Given the description of an element on the screen output the (x, y) to click on. 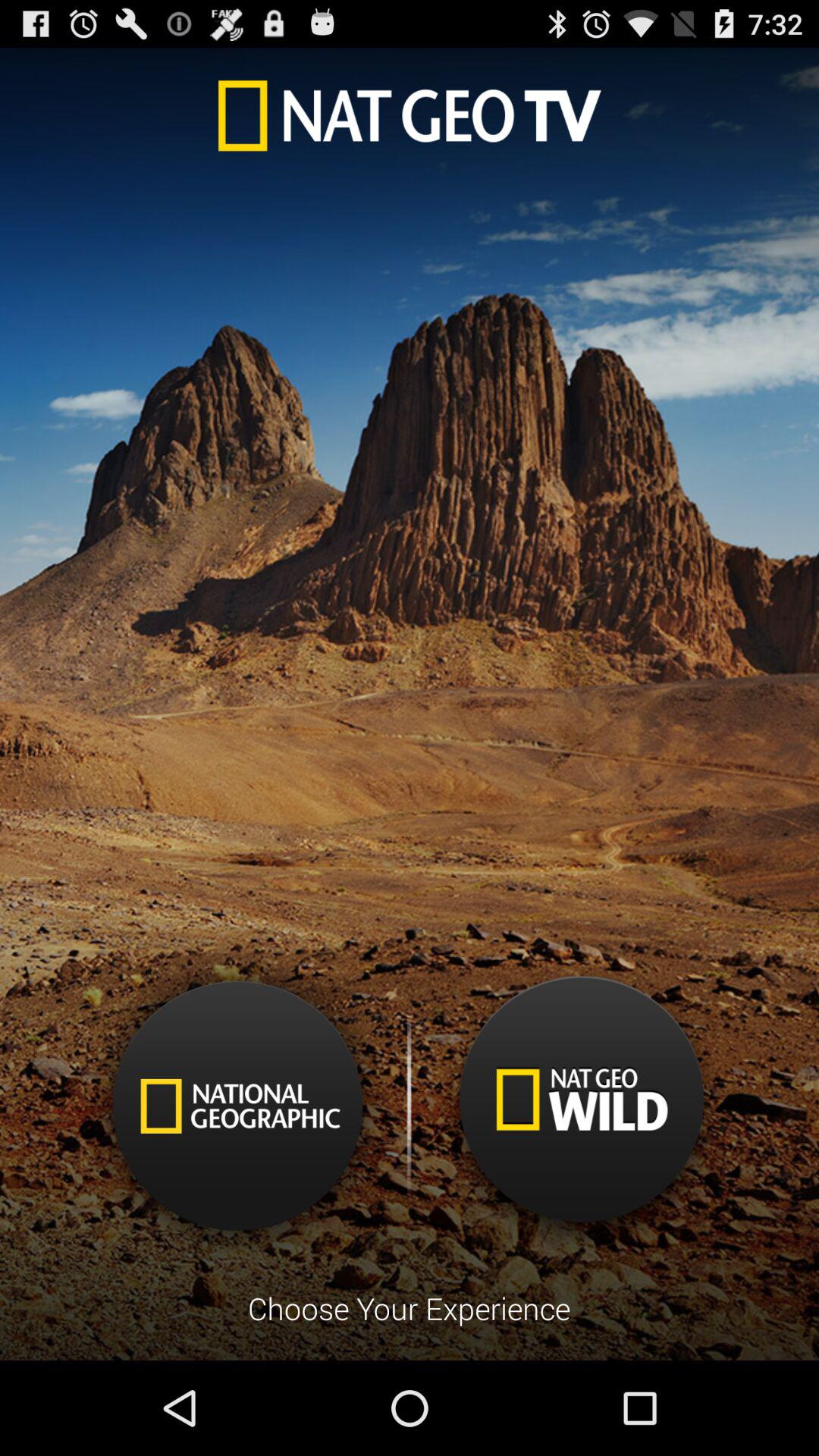
go to national geographic (237, 1105)
